Given the description of an element on the screen output the (x, y) to click on. 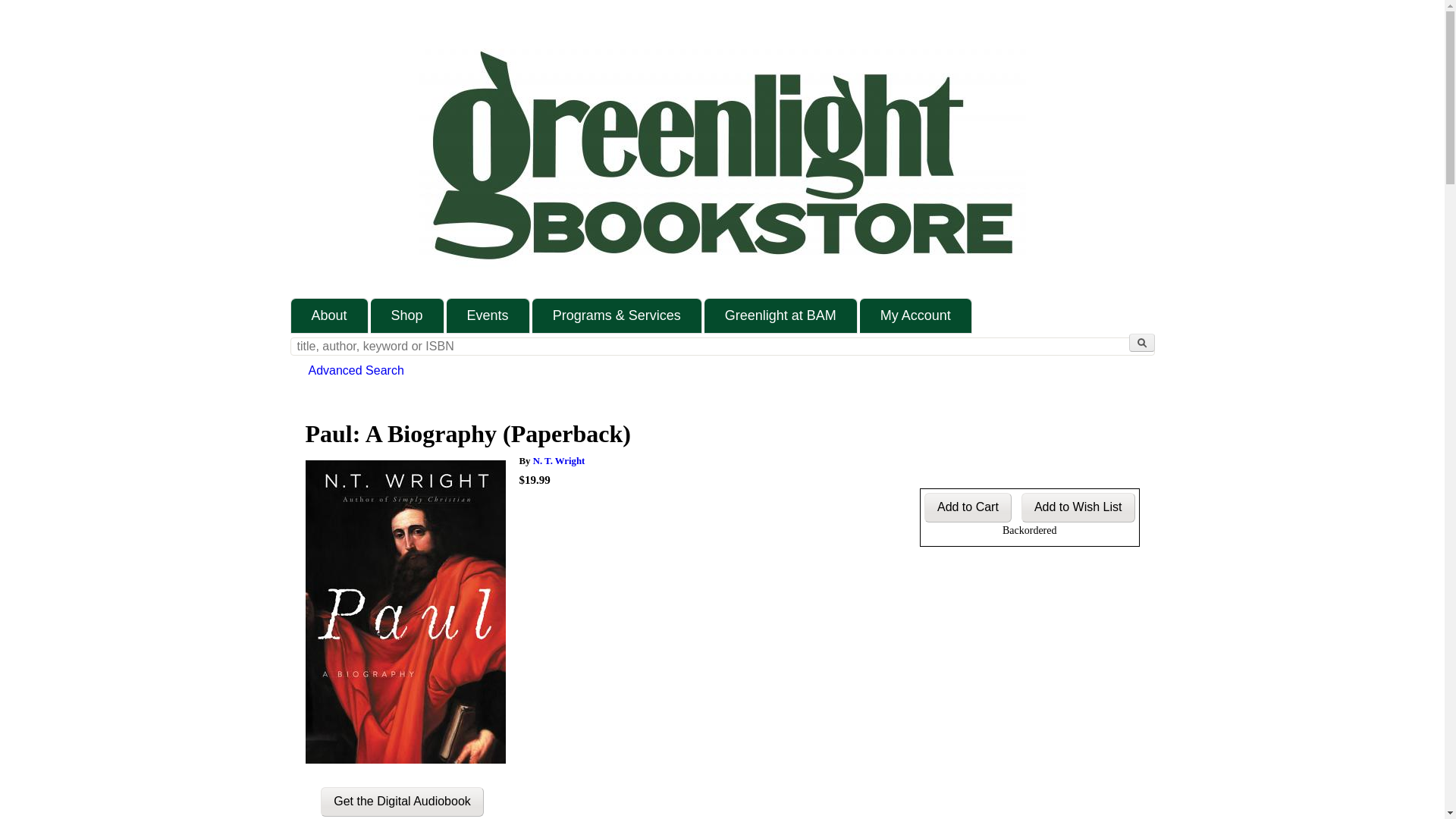
Add to Cart (967, 507)
Search (1141, 342)
Get the Digital Audiobook (401, 801)
About (329, 315)
Shop (407, 315)
